Given the description of an element on the screen output the (x, y) to click on. 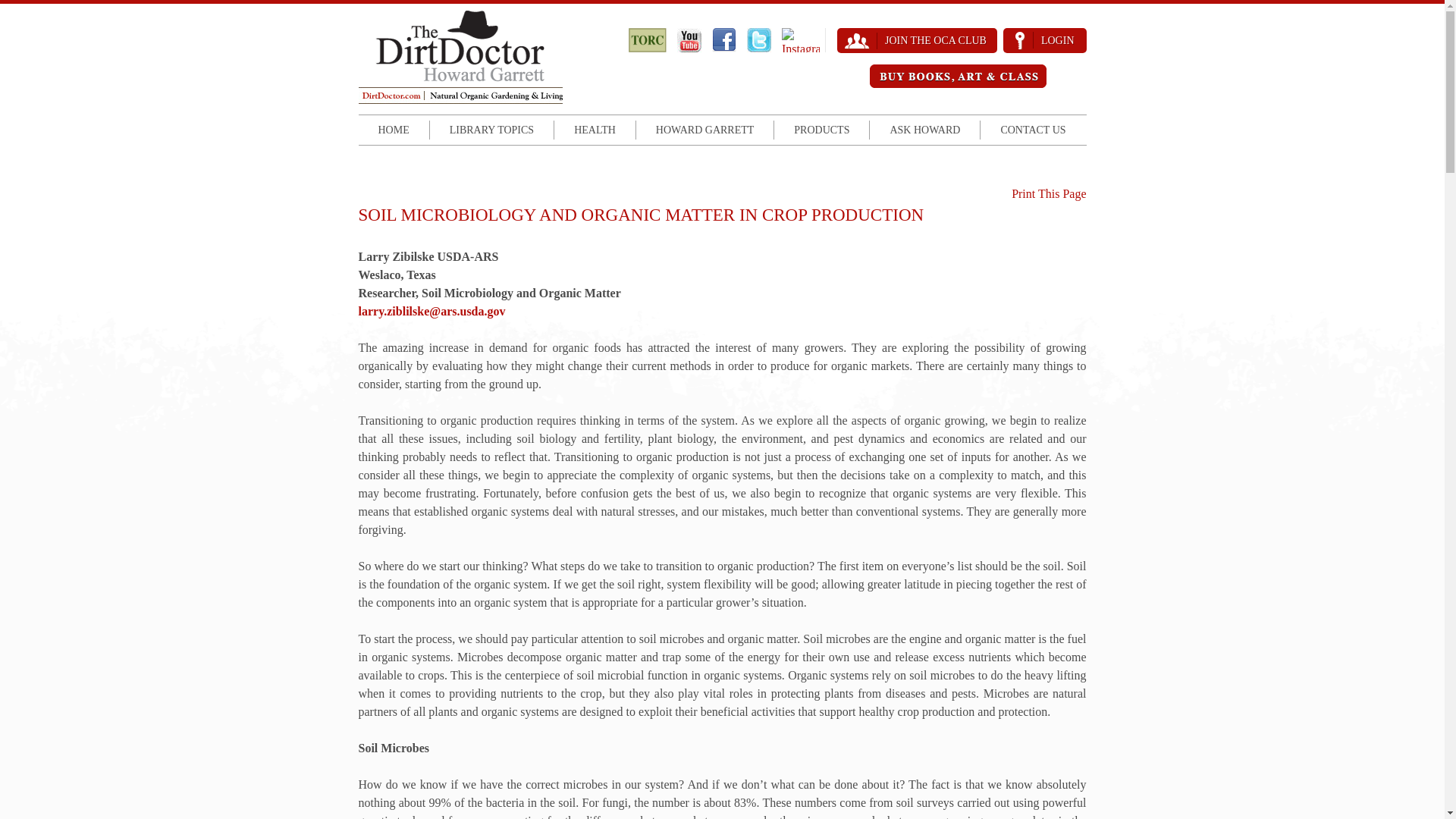
LOGIN (1044, 40)
PRODUCTS (821, 129)
LIBRARY TOPICS (491, 129)
HOWARD GARRETT (705, 129)
JOIN THE OCA CLUB (917, 40)
HOME (393, 129)
HEALTH (594, 129)
